Given the description of an element on the screen output the (x, y) to click on. 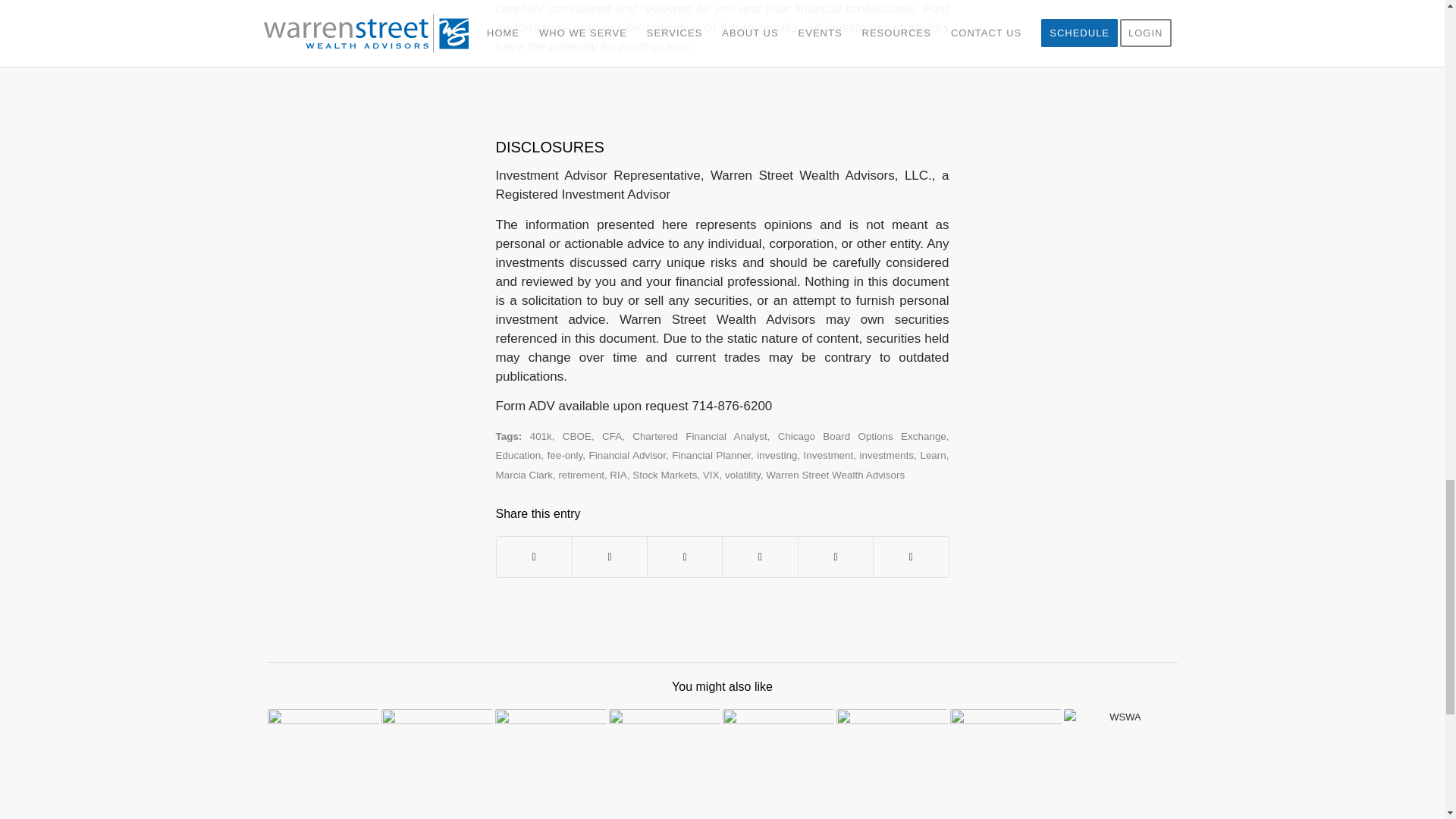
Financial Advisor (626, 455)
Education (518, 455)
Financial Planner (711, 455)
Chartered Financial Analyst (699, 436)
Chicago Board Options Exchange (861, 436)
Meet the Team: Veronica Cabral (322, 764)
CFA (611, 436)
fee-only (564, 455)
investing (776, 455)
401k (540, 436)
CBOE (576, 436)
Investment (828, 455)
